Given the description of an element on the screen output the (x, y) to click on. 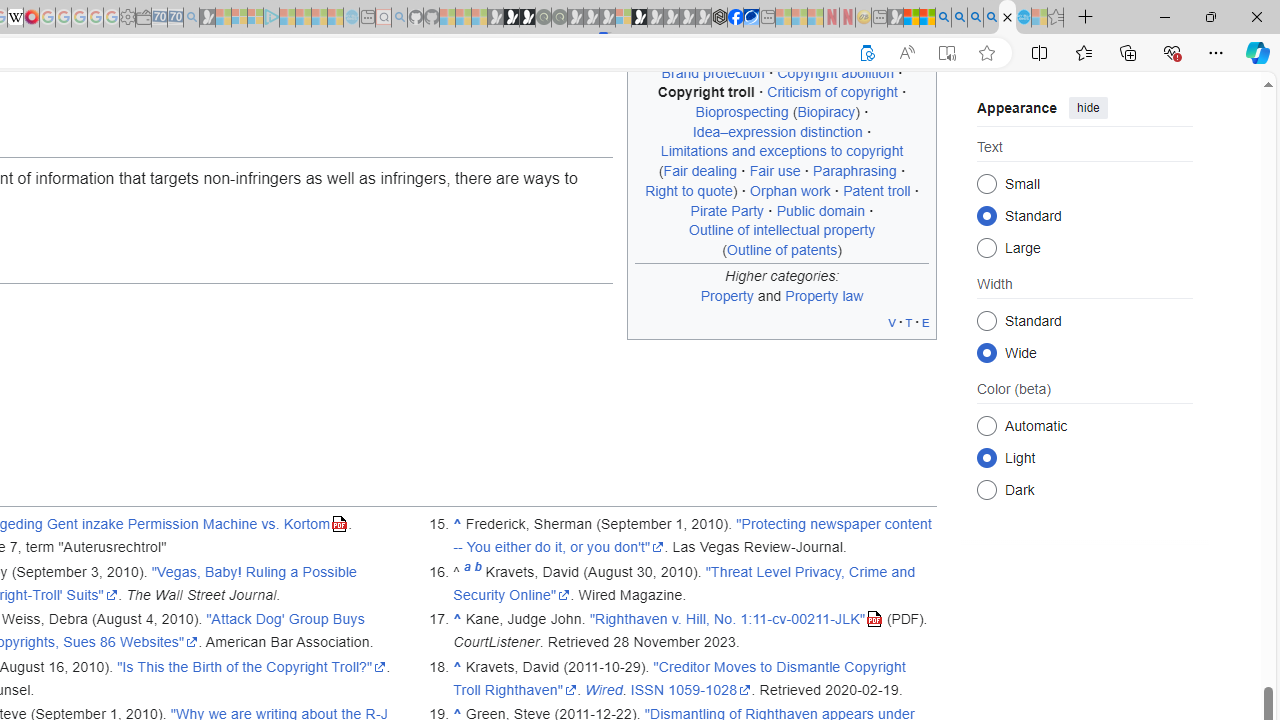
t (908, 322)
Fair dealing (700, 171)
hide (1088, 107)
"Threat Level Privacy, Crime and Security Online" (684, 583)
Nordace - Cooler Bags (719, 17)
